Given the description of an element on the screen output the (x, y) to click on. 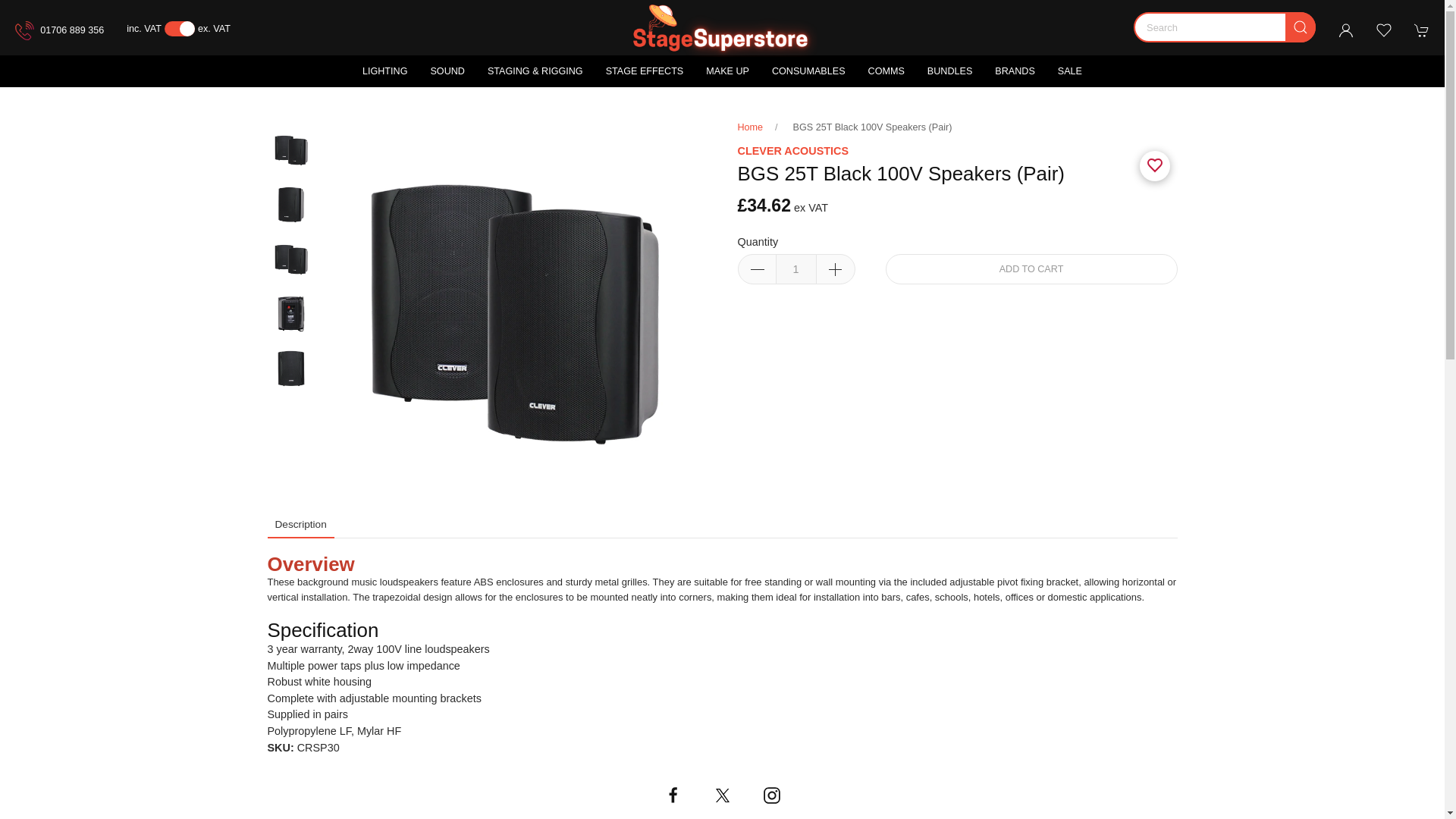
01706 889 356 (58, 29)
SOUND (446, 70)
LIGHTING (384, 70)
1 (795, 268)
Call Stage Superstore (58, 29)
